Given the description of an element on the screen output the (x, y) to click on. 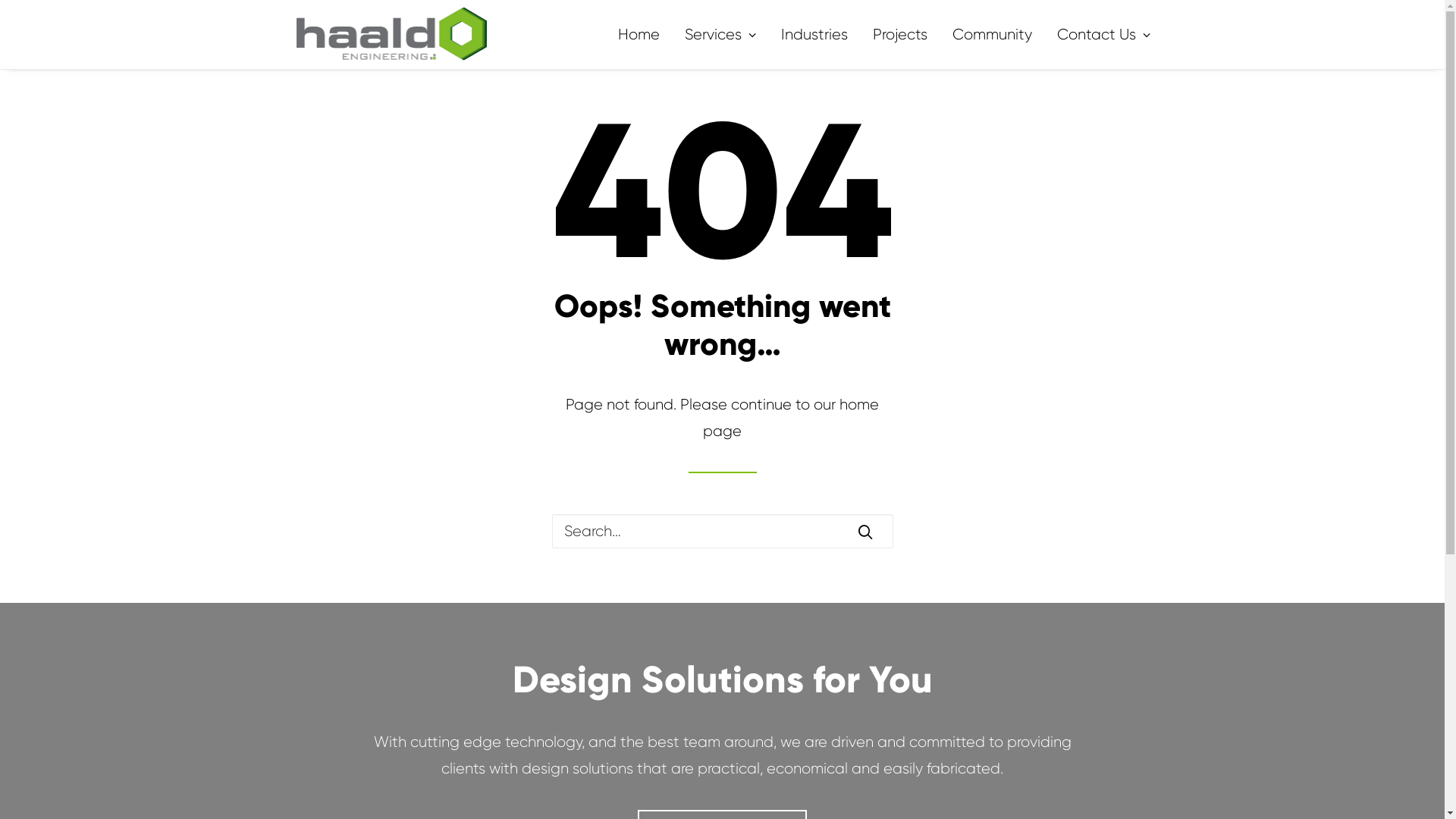
Industries Element type: text (814, 34)
Community Element type: text (991, 34)
home page Element type: text (790, 417)
Contact Us Element type: text (1098, 34)
Home Element type: text (643, 34)
Search for: Element type: hover (722, 531)
Services Element type: text (719, 34)
Projects Element type: text (899, 34)
